Given the description of an element on the screen output the (x, y) to click on. 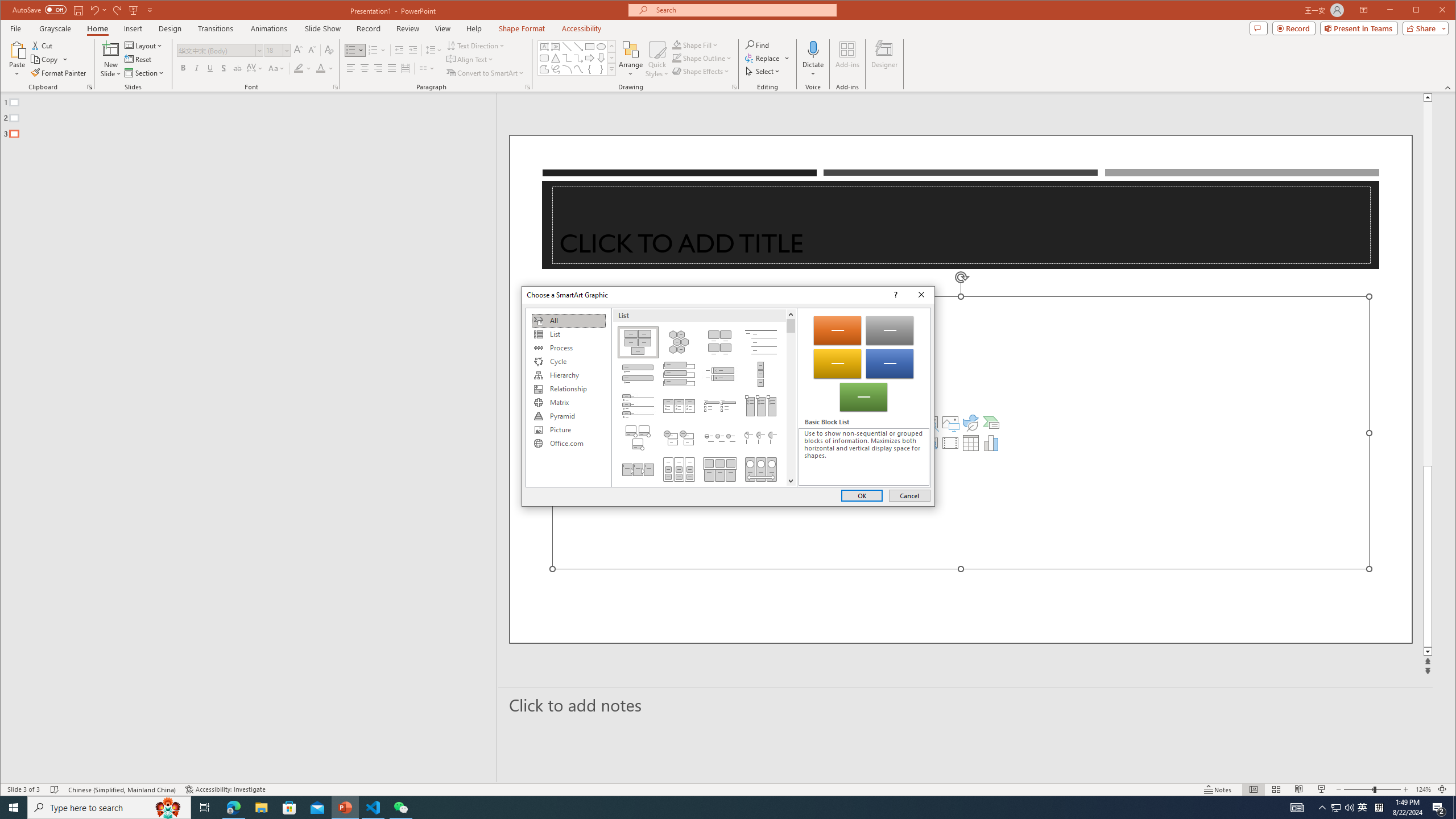
Convert to SmartArt (485, 72)
Paragraph... (527, 86)
Font Size (277, 49)
Format Object... (733, 86)
Grouped List (678, 469)
Matrix (568, 402)
Line up (790, 314)
Cancel (909, 495)
AutomationID: ShapesInsertGallery (577, 57)
Row Down (611, 57)
Oval (601, 46)
Align Right (377, 68)
